Given the description of an element on the screen output the (x, y) to click on. 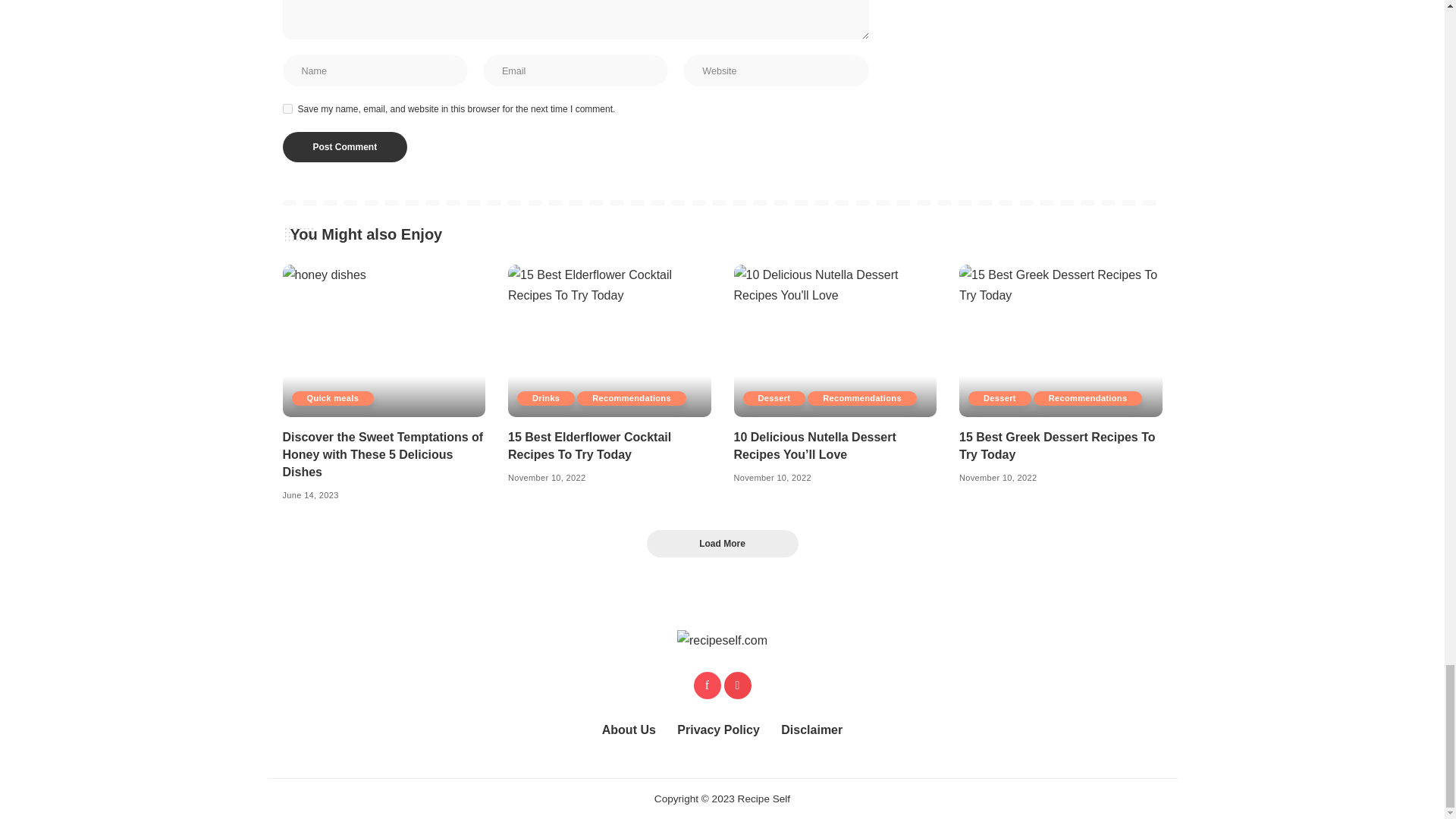
Post Comment (344, 146)
yes (287, 108)
